Given the description of an element on the screen output the (x, y) to click on. 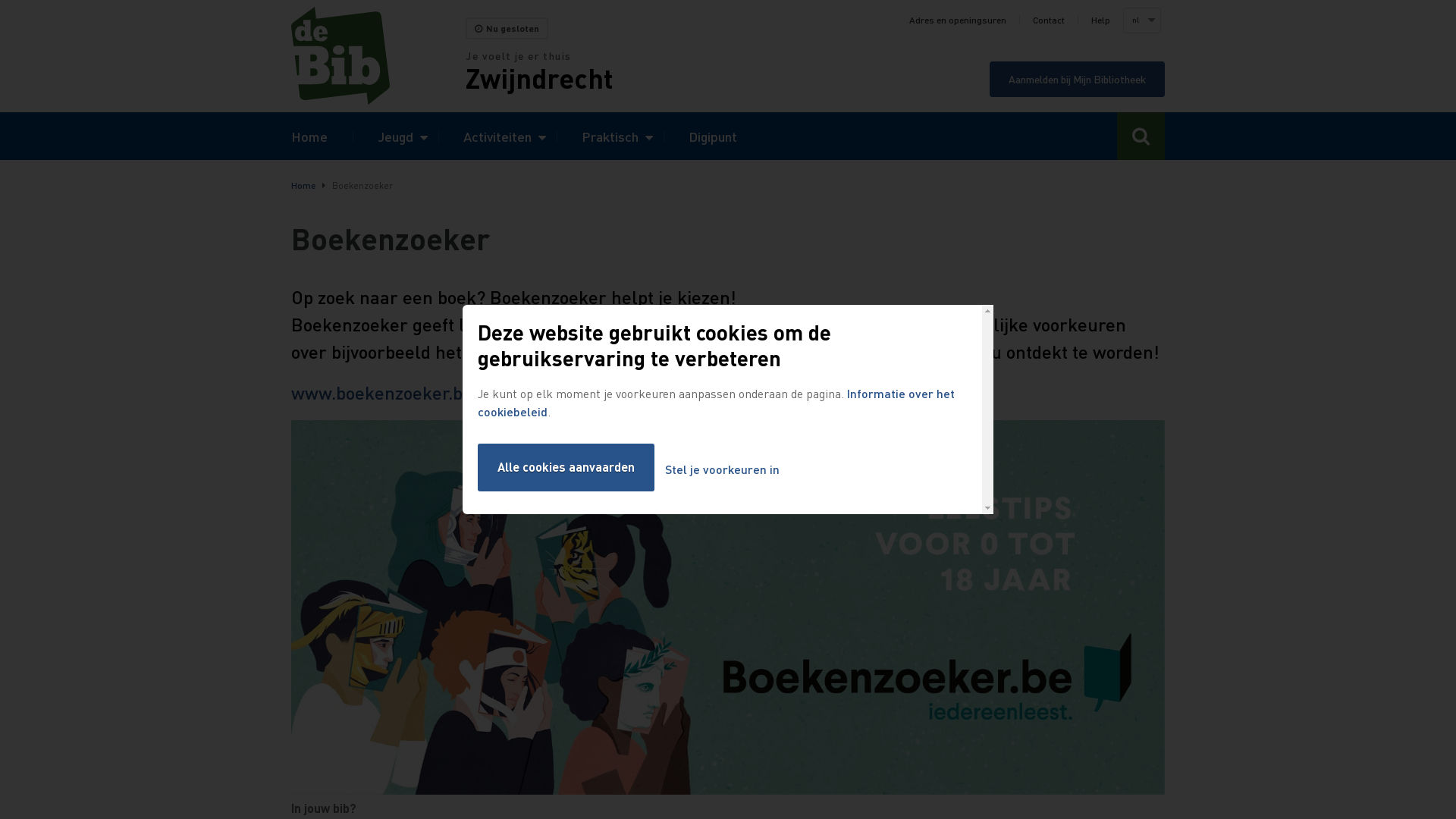
Overslaan en naar zoeken gaan Element type: text (0, 0)
Home Element type: text (303, 185)
Digipunt Element type: text (712, 136)
nl Element type: text (1140, 20)
Home Element type: hover (378, 55)
Adres en openingsuren Element type: text (957, 20)
Informatie over het cookiebeleid Element type: text (715, 402)
Alle cookies aanvaarden Element type: text (565, 466)
Boekenzoeker banner Element type: hover (727, 607)
Stel je voorkeuren in Element type: text (722, 469)
Nu gesloten Element type: text (506, 28)
Contact Element type: text (1048, 20)
Home Element type: text (309, 136)
www.boekenzoeker.be Element type: text (381, 392)
Aanmelden bij Mijn Bibliotheek Element type: text (1076, 79)
Toggle search Element type: hover (1140, 136)
Help Element type: text (1100, 20)
